Given the description of an element on the screen output the (x, y) to click on. 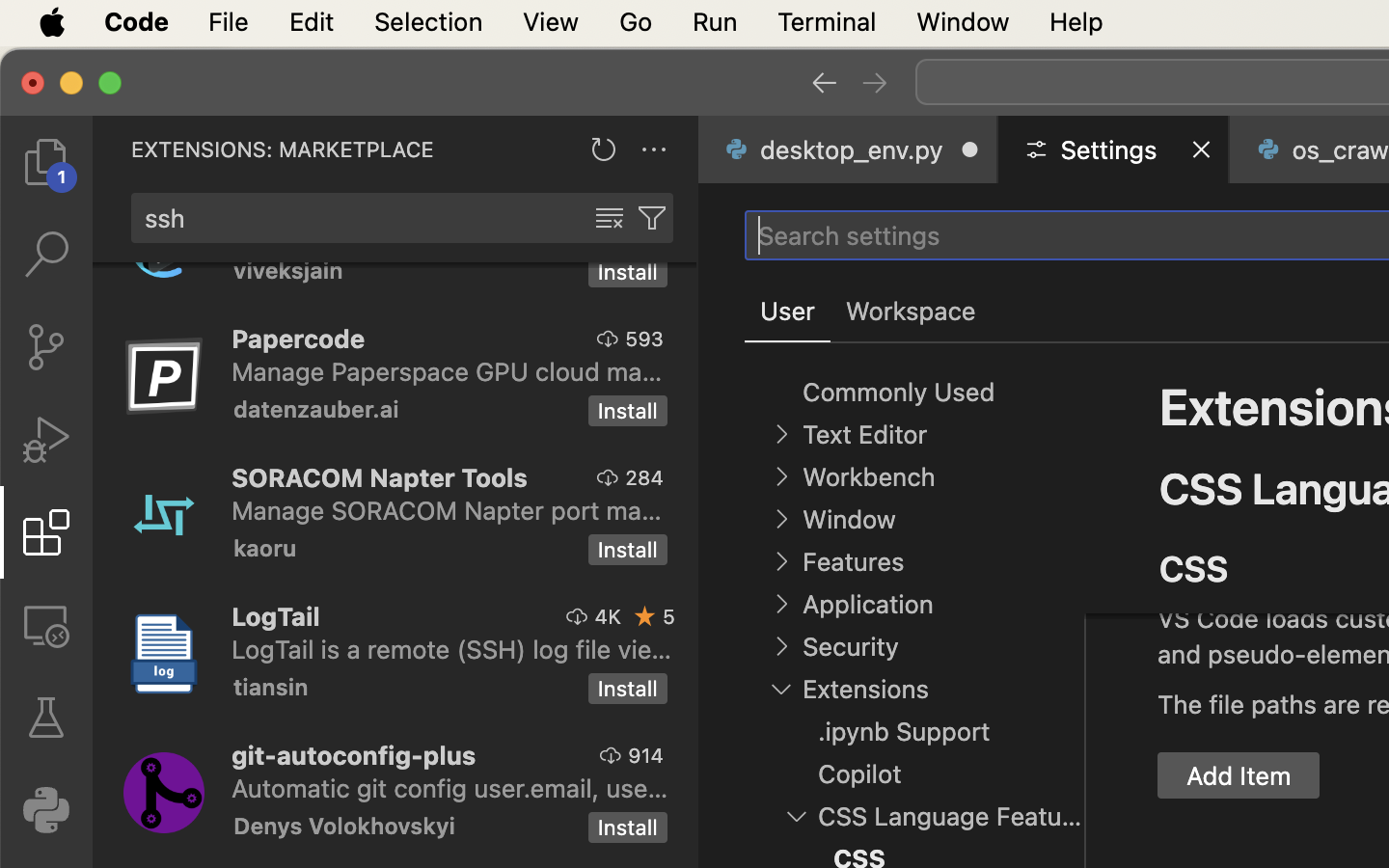
 Element type: AXStaticText (1108, 518)
0 desktop_env.py   Element type: AXRadioButton (848, 149)
0  Element type: AXRadioButton (46, 161)
0 Element type: AXRadioButton (910, 311)
 Element type: AXStaticText (651, 217)
